Given the description of an element on the screen output the (x, y) to click on. 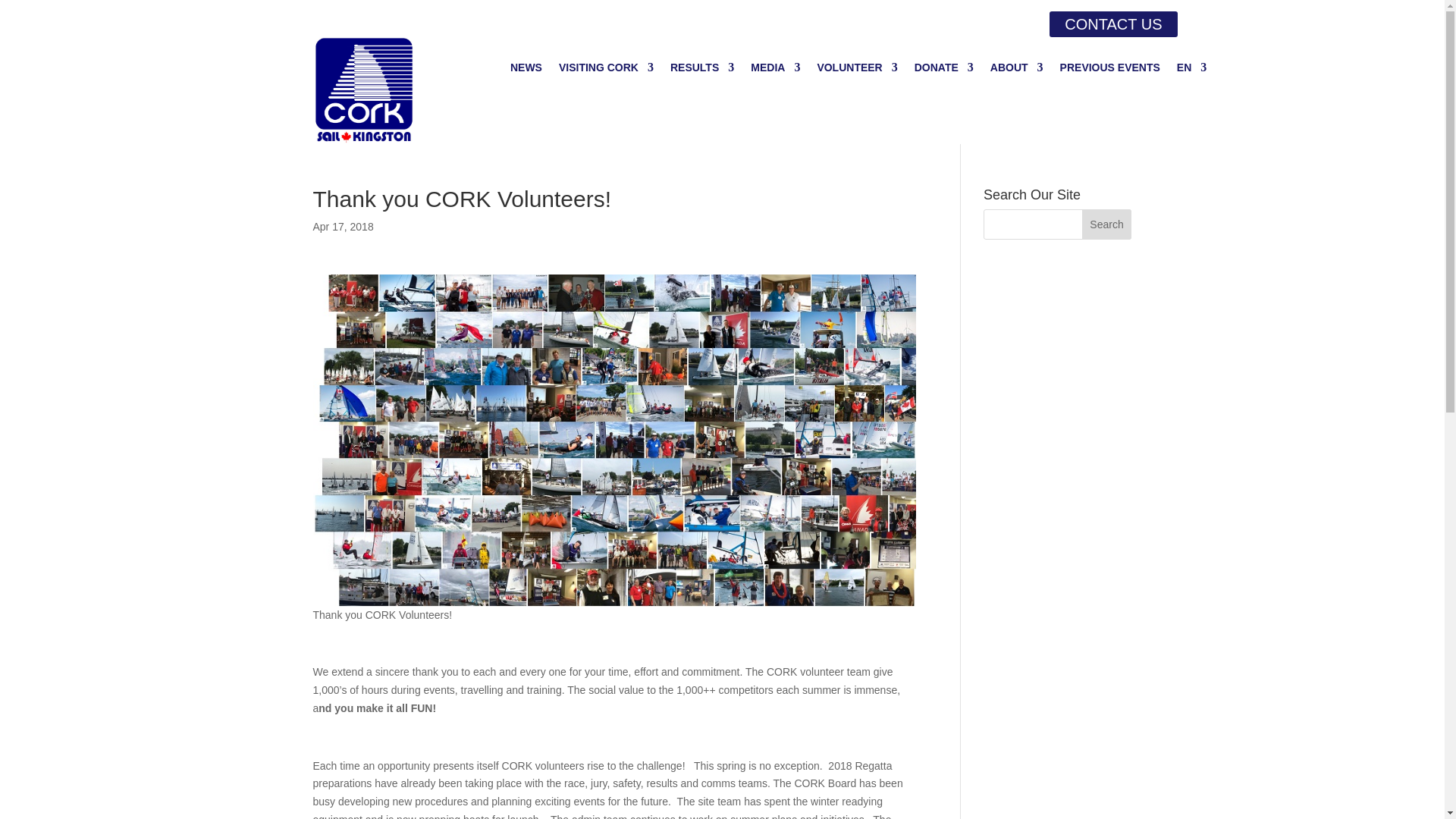
ABOUT (1016, 70)
VOLUNTEER (856, 70)
MEDIA (775, 70)
RESULTS (701, 70)
NEWS (526, 70)
PREVIOUS EVENTS (1109, 70)
CORK Sail Kingston Logo (363, 90)
DONATE (944, 70)
Search (1106, 224)
VISITING CORK (606, 70)
